Given the description of an element on the screen output the (x, y) to click on. 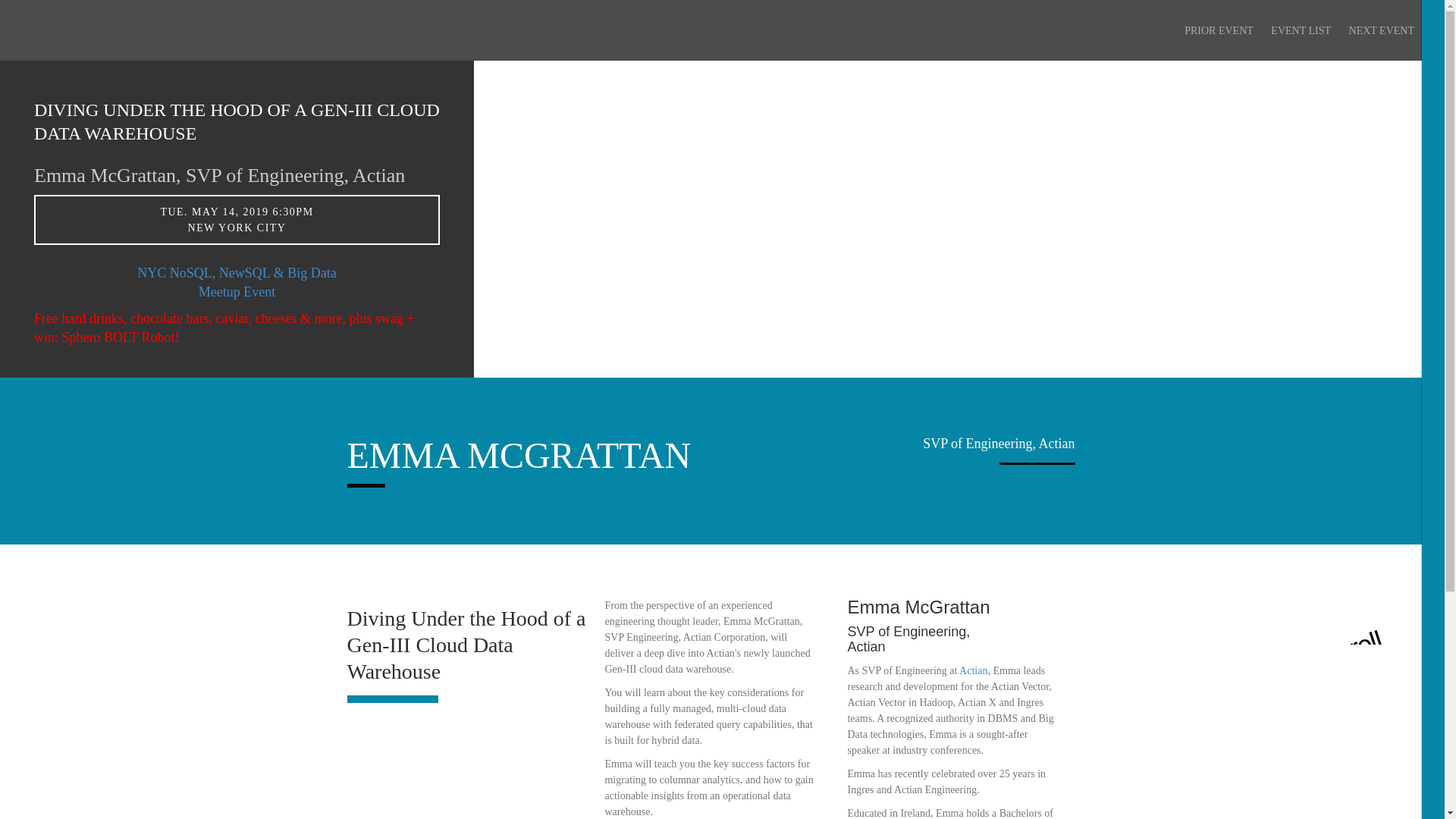
Next Event (1381, 30)
Actian (973, 670)
Actian (973, 670)
EVENT LIST (1300, 30)
PRIOR EVENT (1219, 30)
Prior Event (1219, 30)
NEXT EVENT (1381, 30)
